Given the description of an element on the screen output the (x, y) to click on. 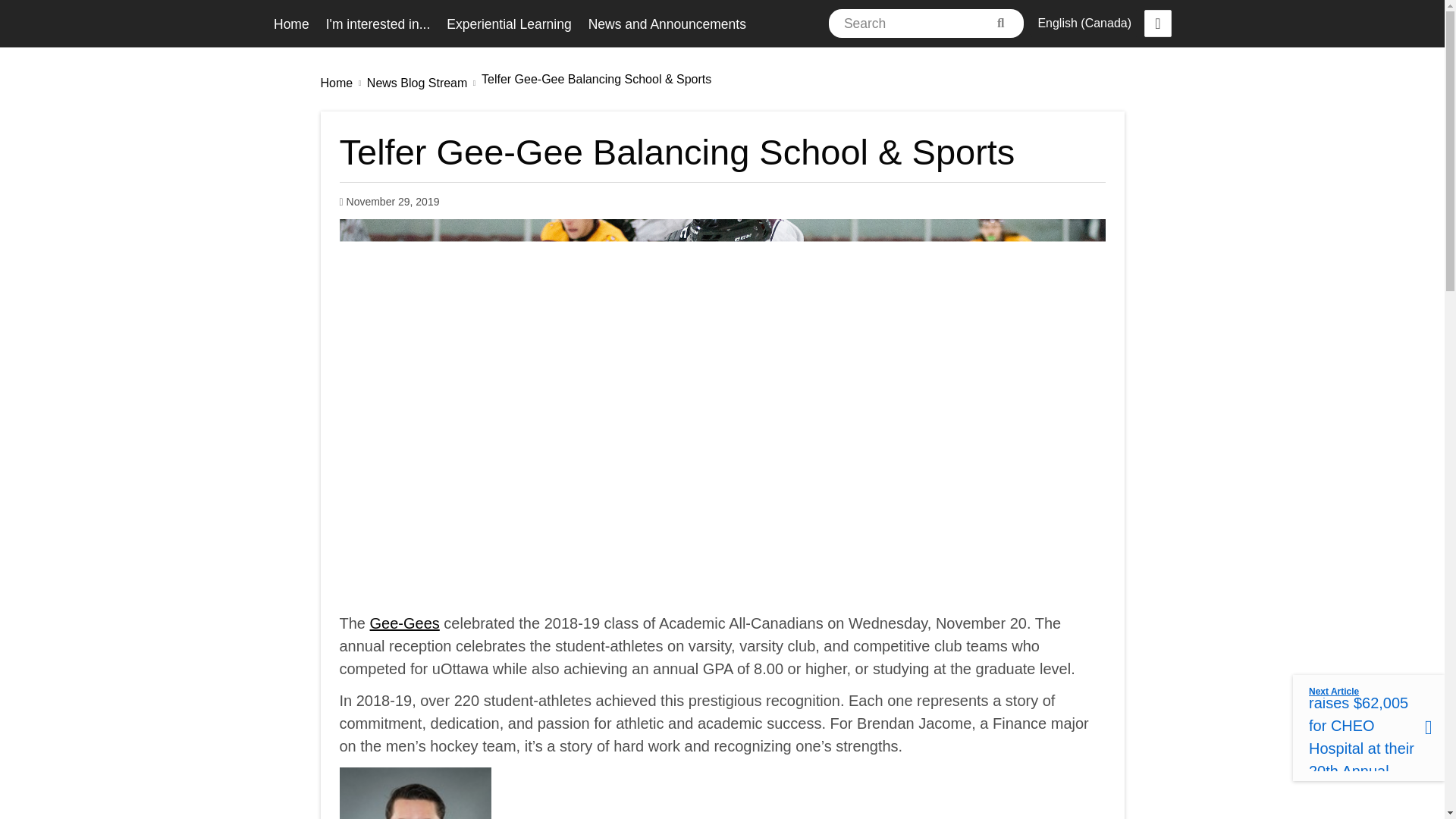
Published Date (389, 201)
Share this content (1158, 22)
Open Locale Selector Menu (1083, 22)
Home (336, 83)
Experiential Learning (508, 23)
Home (290, 23)
Gee-Gees (404, 623)
News and Announcements (666, 23)
News Blog Stream (416, 83)
Share this content (1158, 22)
